Given the description of an element on the screen output the (x, y) to click on. 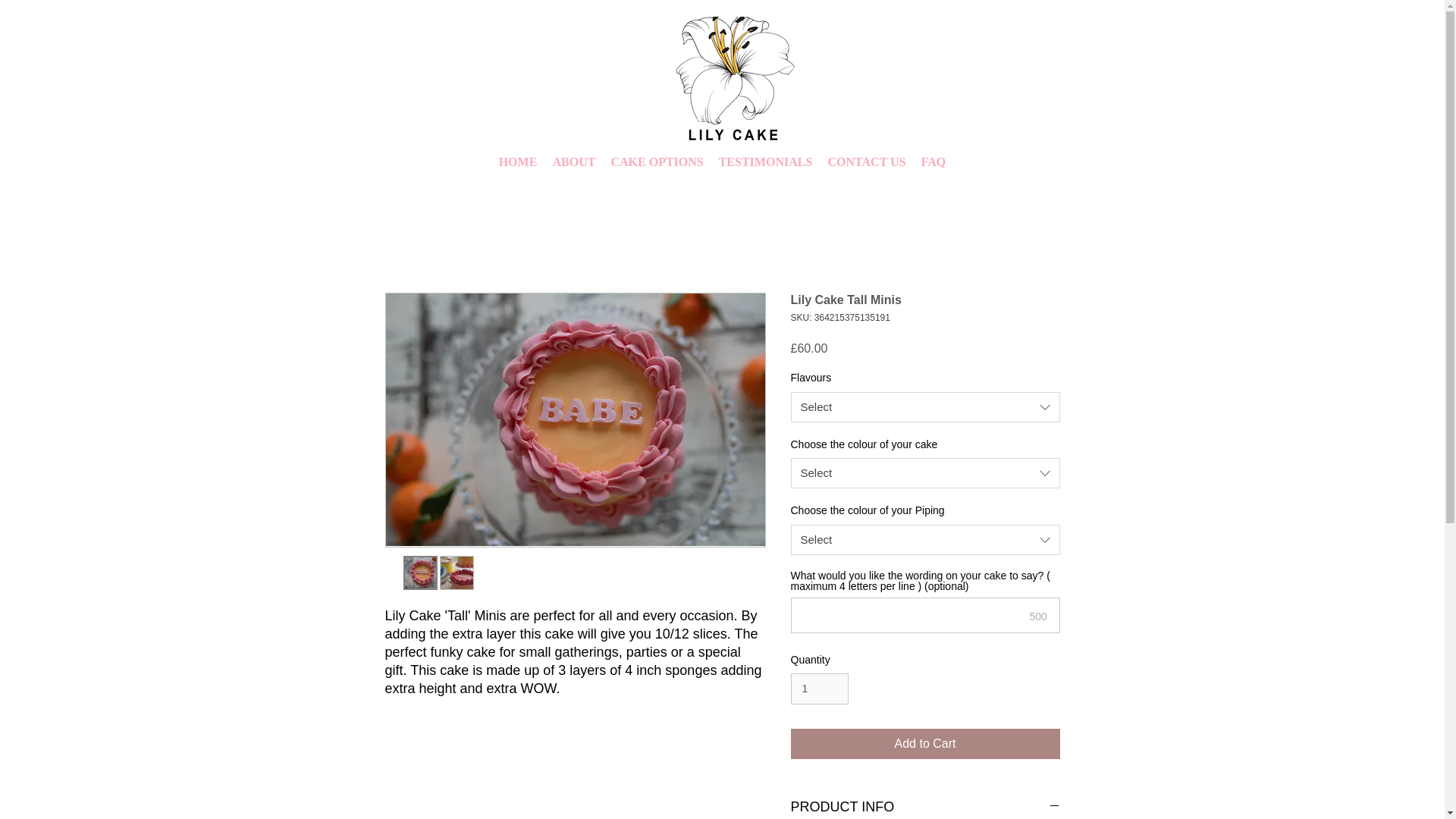
Select (924, 472)
Select (924, 539)
TESTIMONIALS (764, 161)
Select (924, 407)
HOME (517, 161)
CAKE OPTIONS (656, 161)
PRODUCT INFO (924, 807)
ABOUT (573, 161)
FAQ (932, 161)
Add to Cart (924, 743)
